Given the description of an element on the screen output the (x, y) to click on. 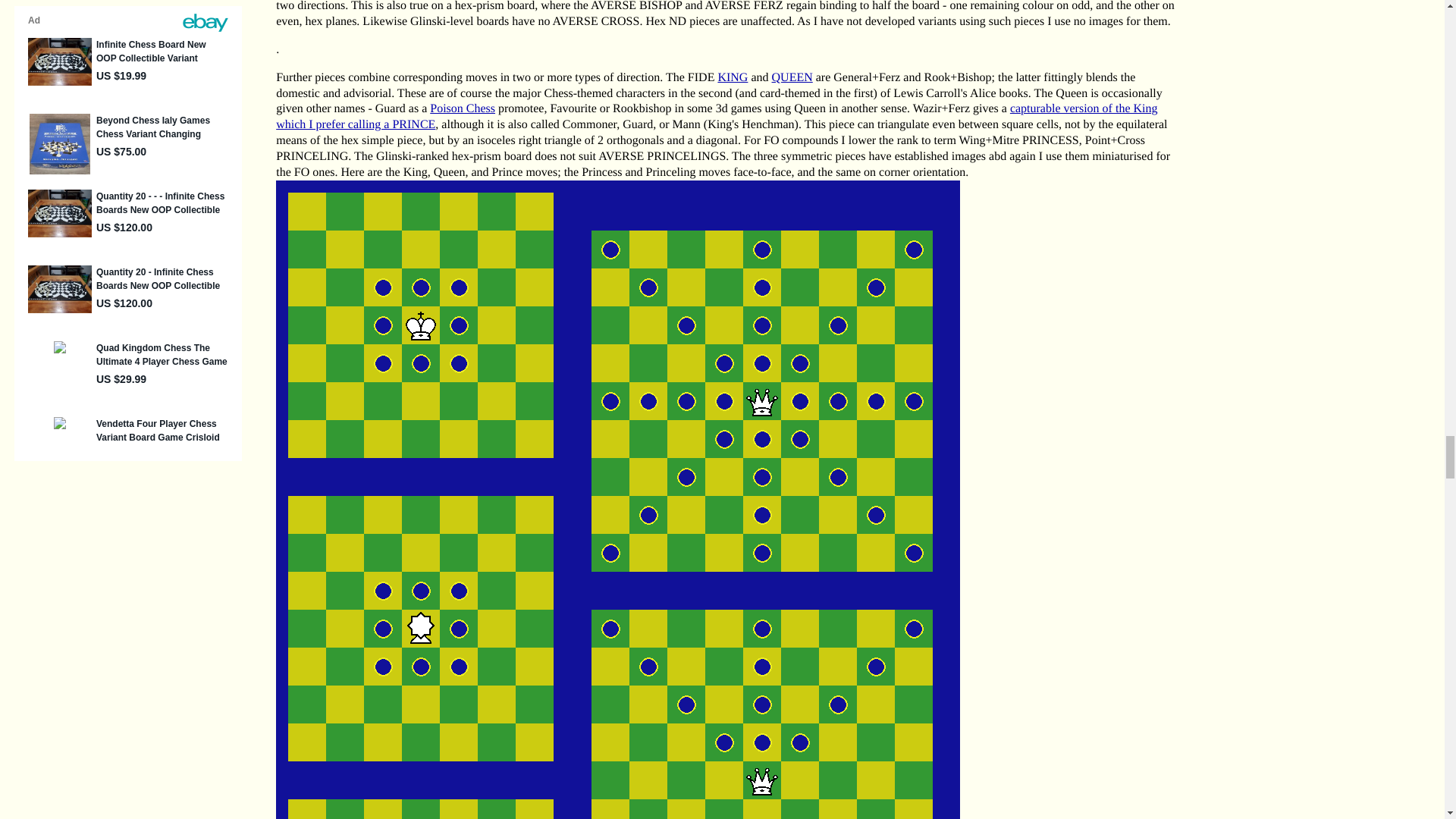
QUEEN (791, 77)
Poison Chess (462, 108)
KING (732, 77)
